Given the description of an element on the screen output the (x, y) to click on. 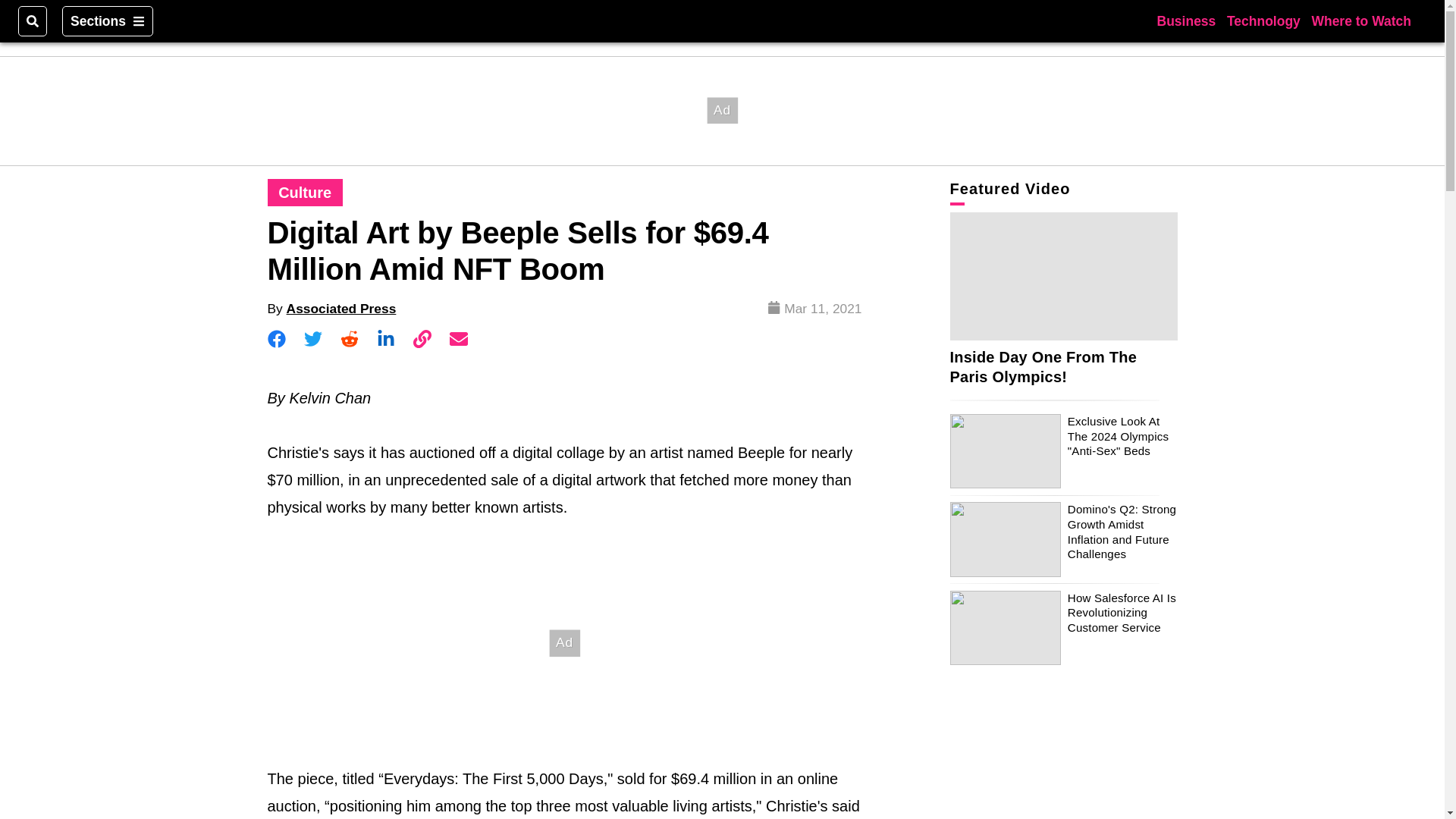
Sections (107, 20)
Business (1186, 20)
Associated Press (341, 308)
Technology (1263, 20)
Where to Watch (1360, 20)
Inside Day One From The Paris Olympics! (1043, 366)
Exclusive Look At The 2024 Olympics "Anti-Sex" Beds (1118, 435)
Culture (304, 192)
